Given the description of an element on the screen output the (x, y) to click on. 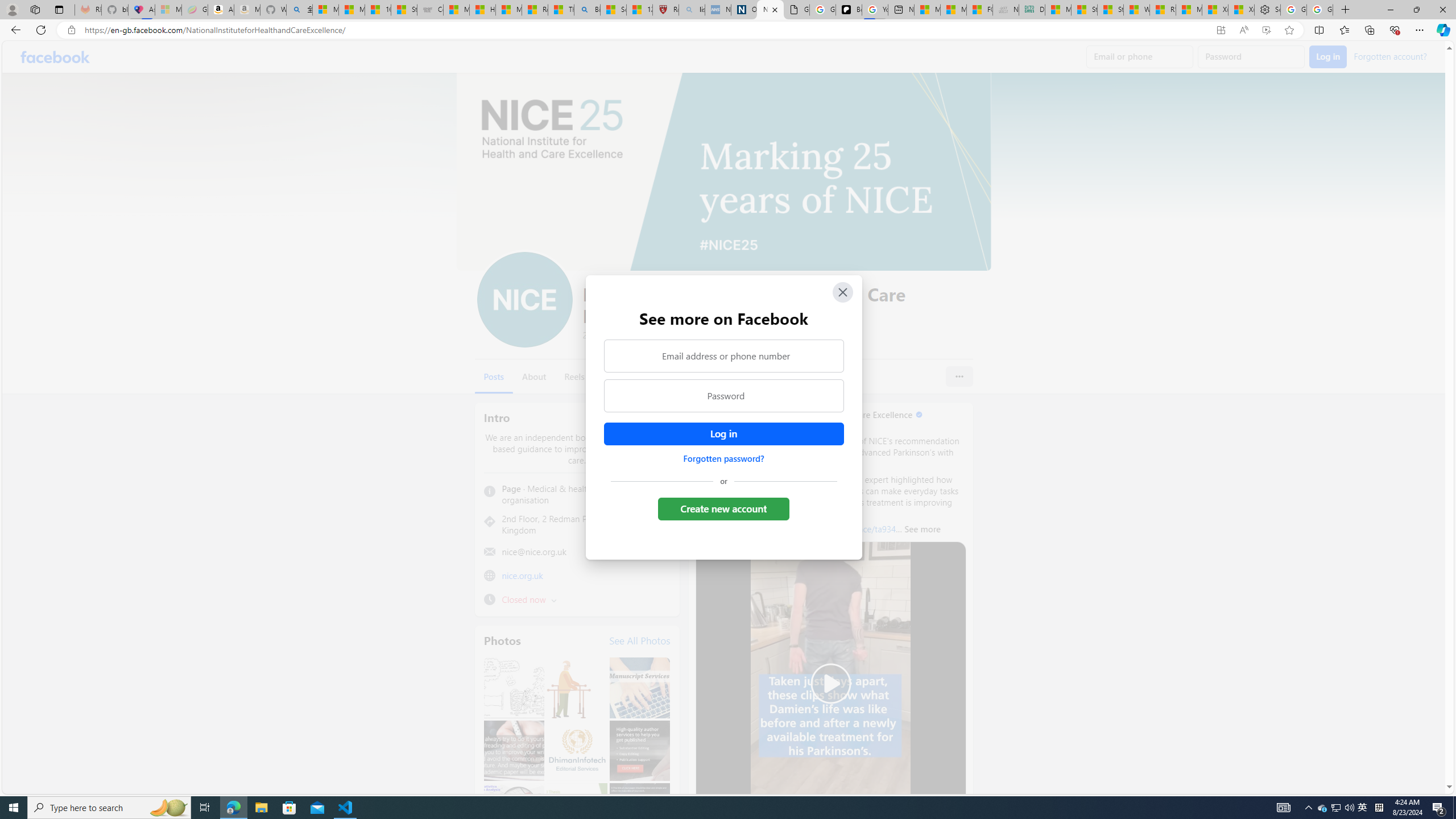
Forgotten account? (1390, 55)
Facebook (55, 56)
App available. Install Facebook (1220, 29)
